Given the description of an element on the screen output the (x, y) to click on. 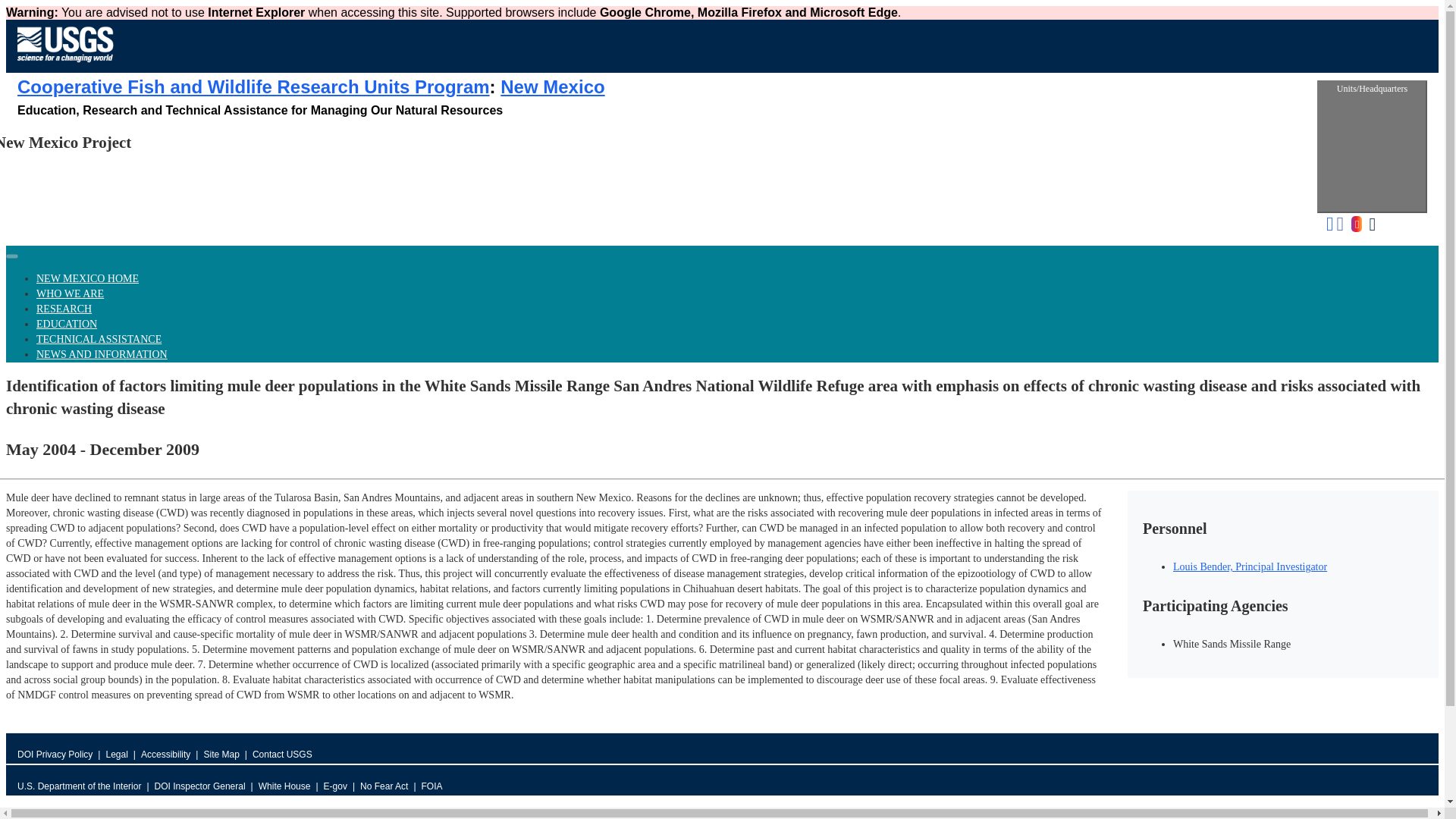
Home (65, 65)
